Given the description of an element on the screen output the (x, y) to click on. 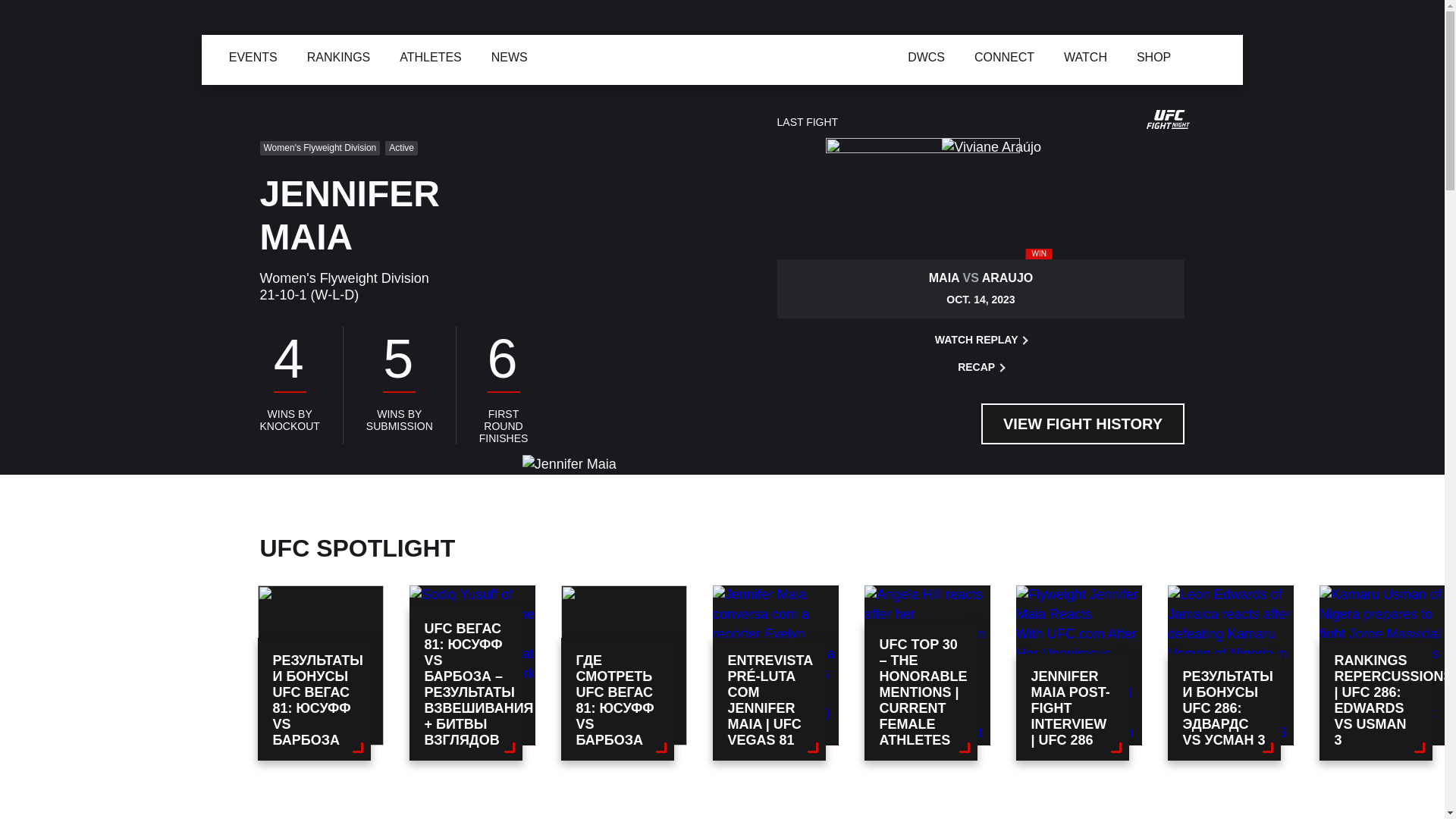
License UFC Video Content (913, 688)
Dana White's Contender Series Returns! (820, 55)
Skip to main content (9, 9)
SHOP (796, 53)
